Given the description of an element on the screen output the (x, y) to click on. 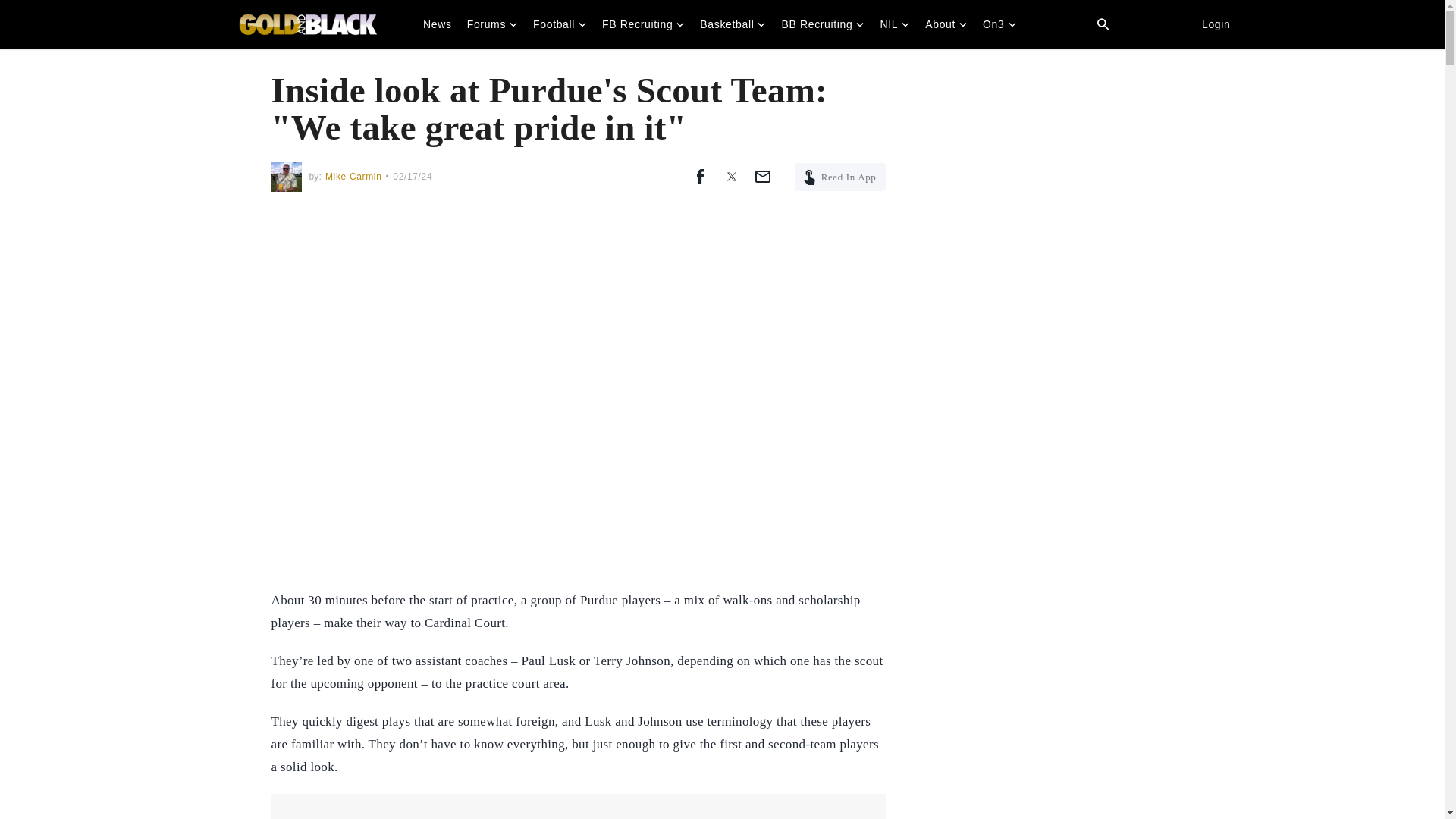
Forums (492, 24)
BB Recruiting (822, 24)
News (437, 24)
home (308, 24)
Purdue (308, 24)
FB Recruiting (643, 24)
Basketball (733, 24)
Football (559, 24)
On3 Database Hub (1103, 24)
